Given the description of an element on the screen output the (x, y) to click on. 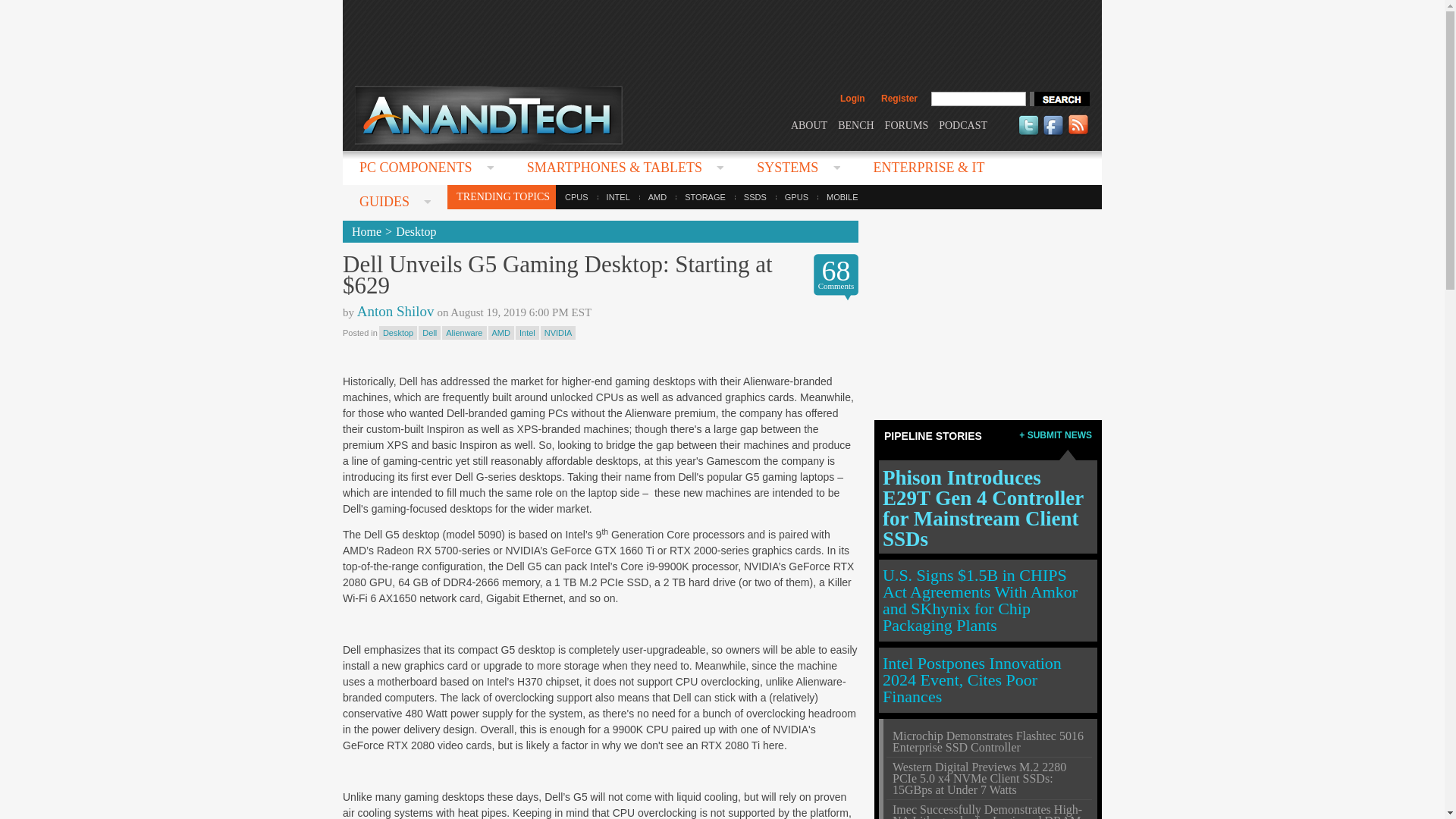
PODCAST (963, 125)
FORUMS (906, 125)
Register (898, 98)
search (1059, 98)
search (1059, 98)
BENCH (855, 125)
Login (852, 98)
ABOUT (808, 125)
search (1059, 98)
